Given the description of an element on the screen output the (x, y) to click on. 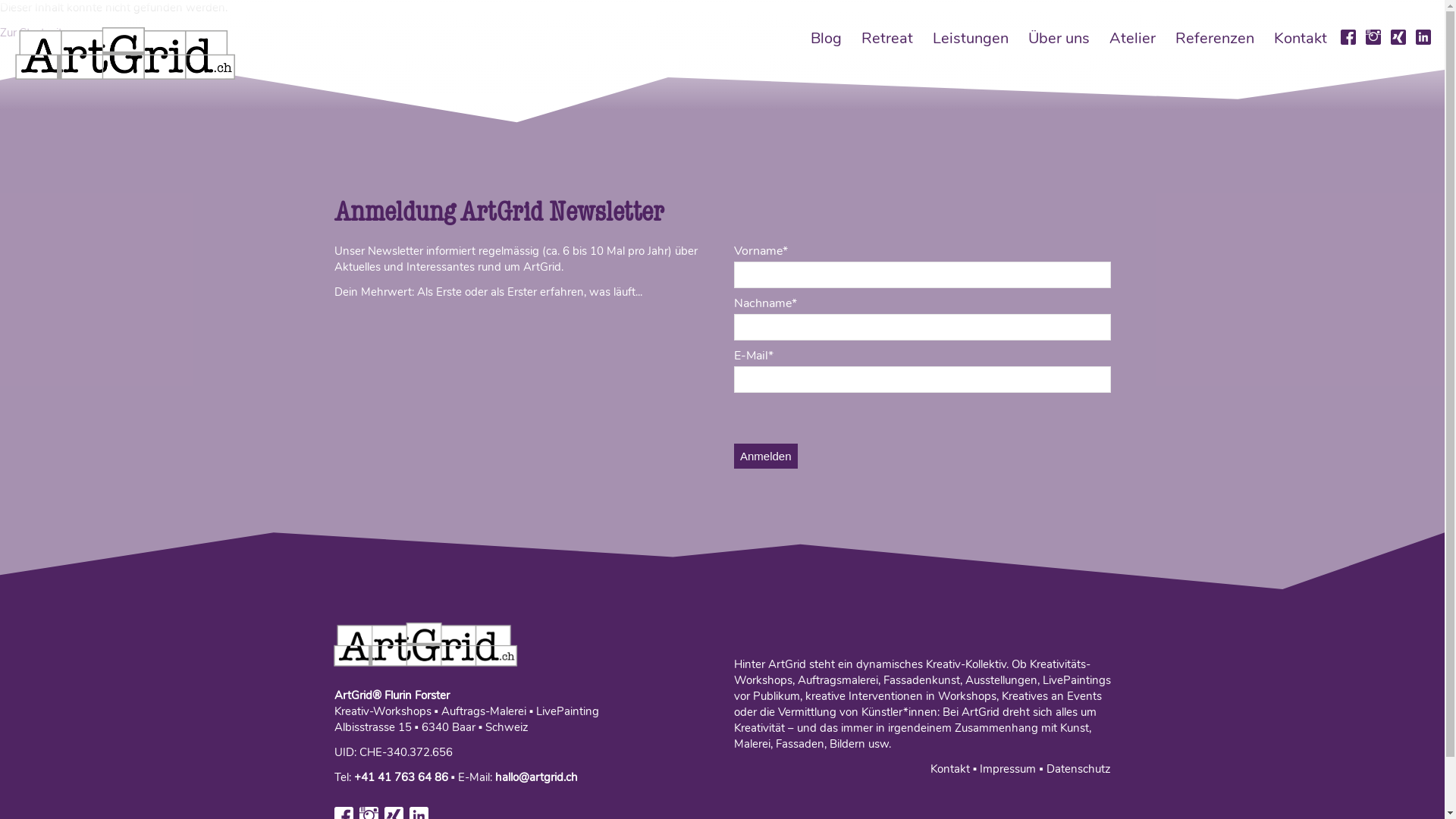
Datenschutz Element type: text (1074, 768)
Retreat Element type: text (887, 38)
Blog Element type: text (825, 38)
+41 41 763 64 86 Element type: text (400, 776)
hallo@artgrid.ch Element type: text (536, 776)
LinkedIn Element type: hover (1422, 38)
Kontakt Element type: text (949, 768)
Instagram Element type: hover (1372, 38)
Facebook Element type: hover (1347, 38)
Anmelden Element type: text (765, 455)
Atelier Element type: text (1132, 38)
zur ArtGrid Startseite Element type: hover (124, 54)
zur ArtGrid Startseite Element type: hover (425, 645)
Leistungen Element type: text (970, 38)
Kontakt Element type: text (1300, 38)
Referenzen Element type: text (1214, 38)
Zur Startseite Element type: text (34, 32)
Xing Element type: hover (1397, 38)
Impressum Element type: text (1003, 768)
